Given the description of an element on the screen output the (x, y) to click on. 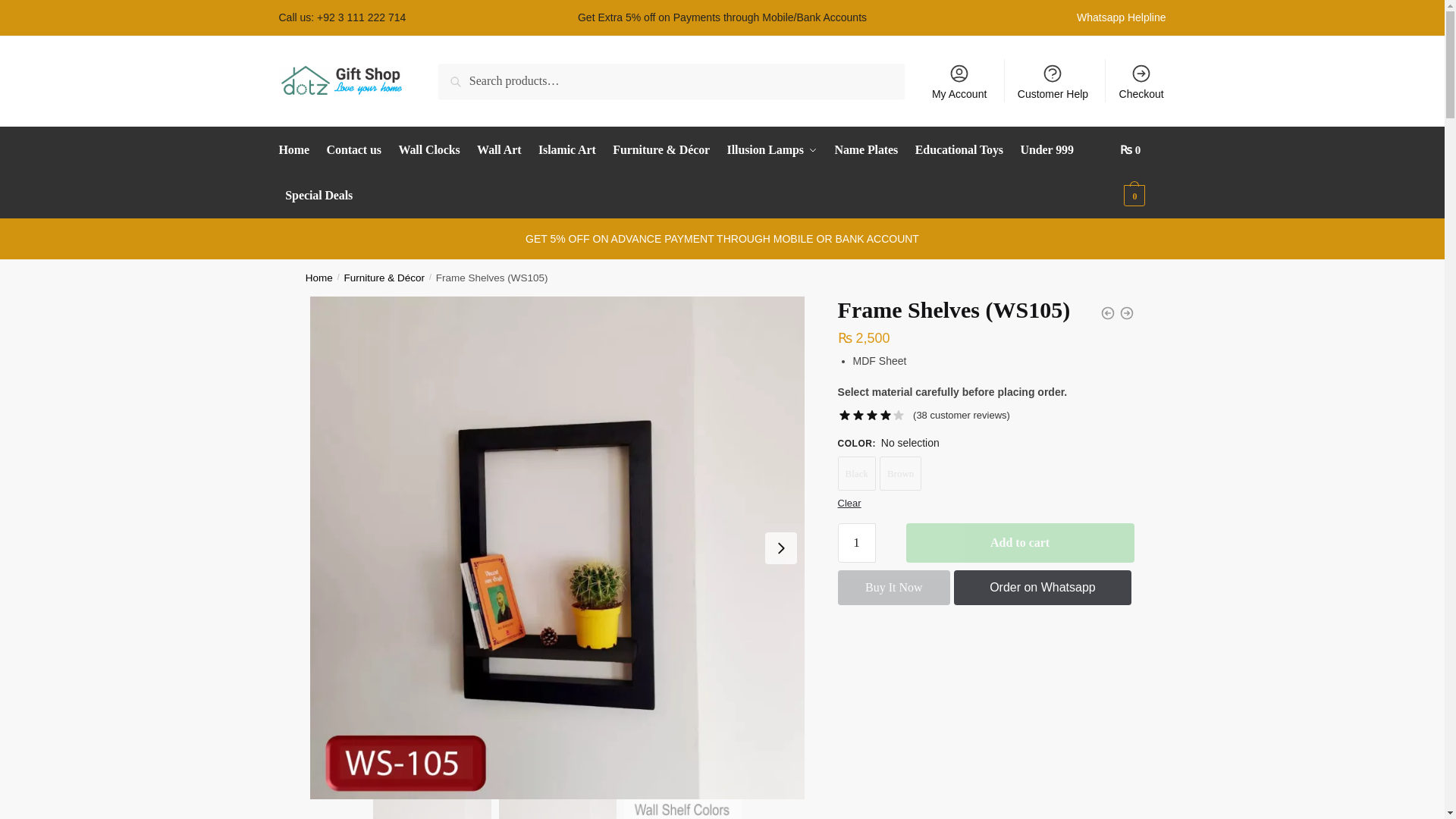
Checkout (1141, 80)
1 (857, 542)
Whatsapp Helpline (1121, 17)
Special Deals (319, 195)
My Account (959, 80)
Educational Toys (959, 149)
Wall Clocks (429, 149)
Home (297, 149)
Contact us (354, 149)
View your shopping cart (1142, 172)
Islamic Art (566, 149)
Search (459, 74)
Home (319, 277)
Under 999 (1046, 149)
